Given the description of an element on the screen output the (x, y) to click on. 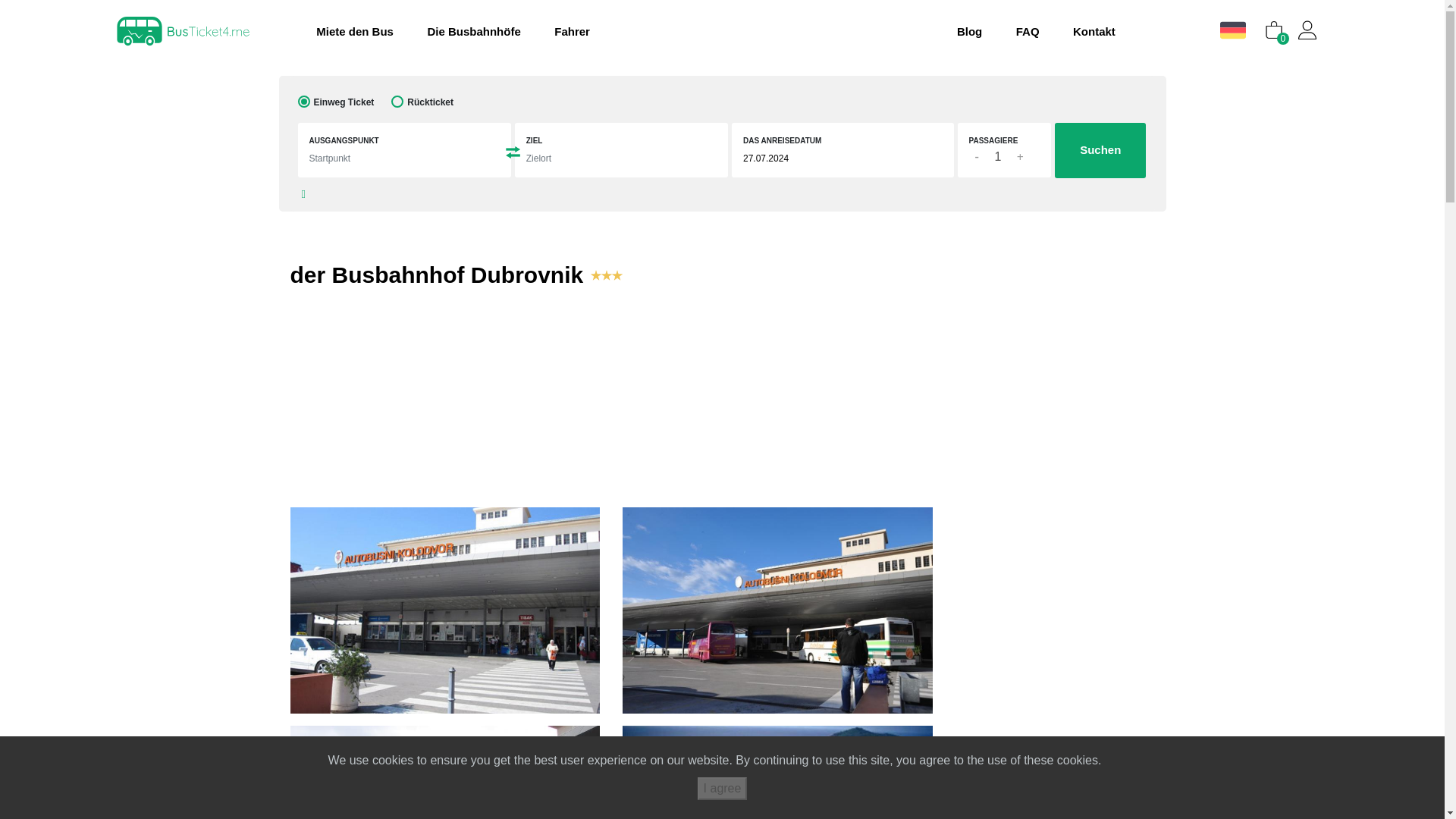
de (1234, 31)
27.07.2024 (831, 161)
Kontakt (1086, 31)
Fahrer (563, 31)
Blog (961, 31)
FAQ (1020, 31)
1 (997, 157)
Miete den Bus (347, 31)
